Given the description of an element on the screen output the (x, y) to click on. 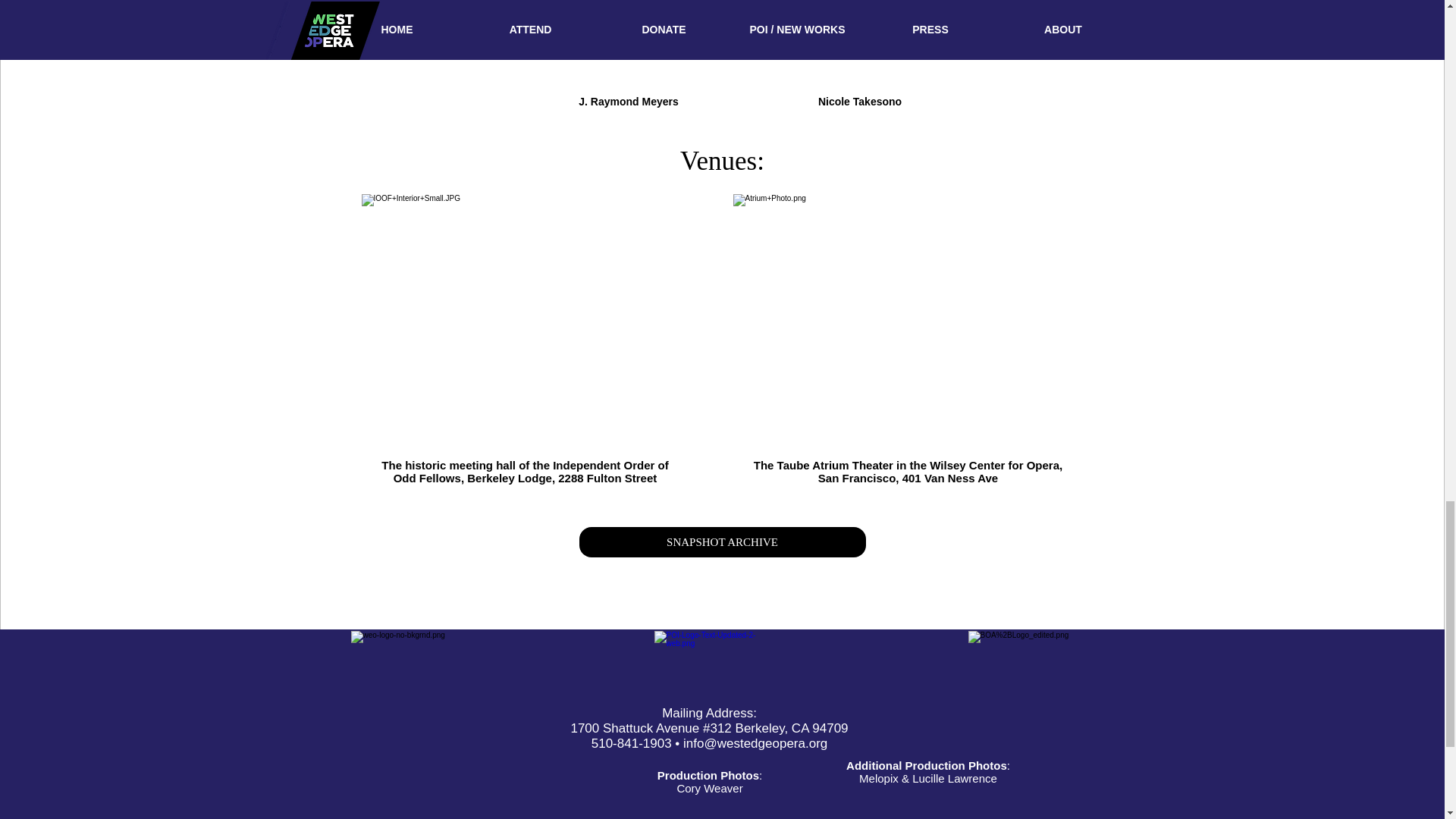
SNAPSHOT ARCHIVE (722, 542)
